Given the description of an element on the screen output the (x, y) to click on. 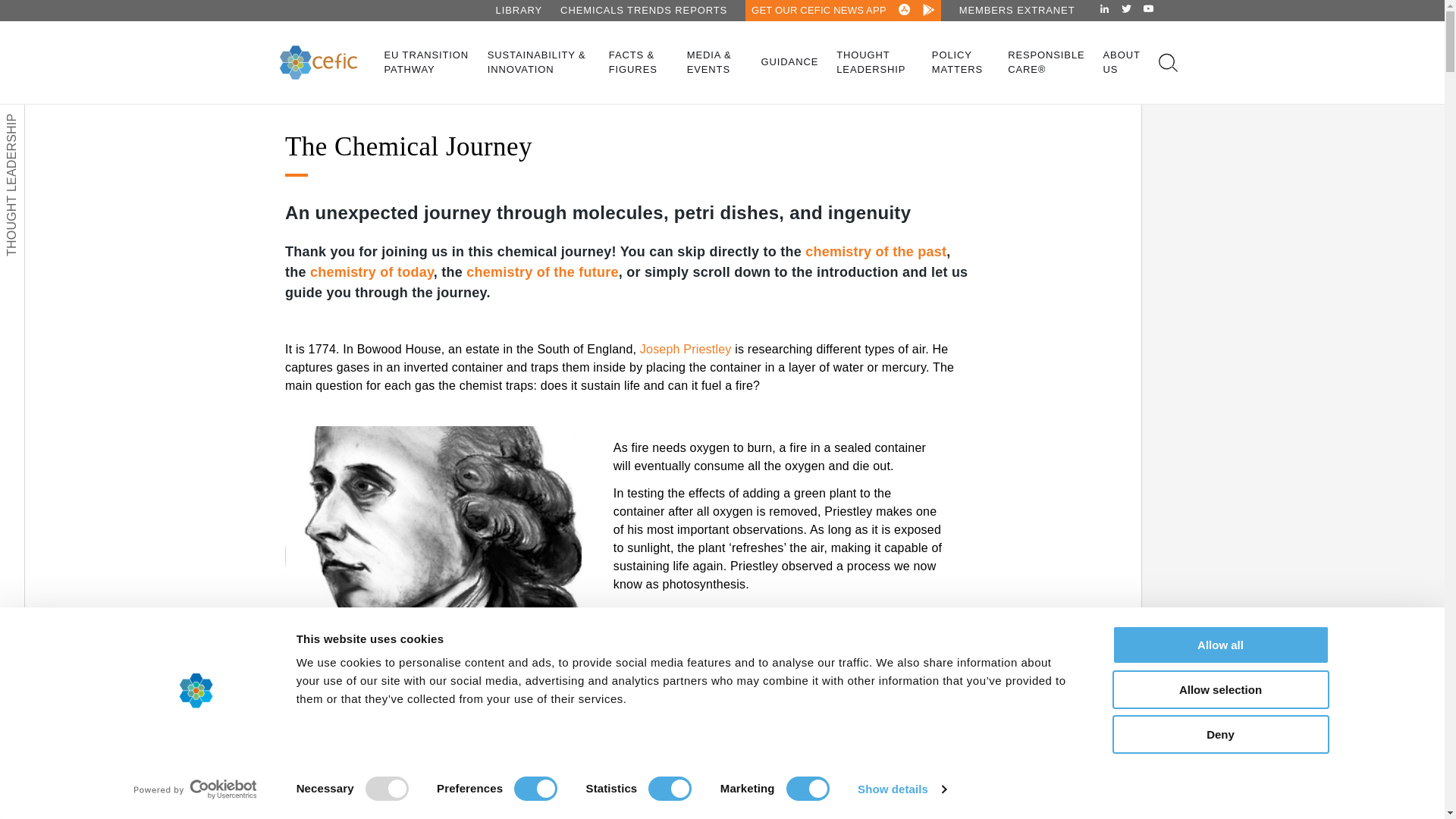
Show details (900, 789)
